Given the description of an element on the screen output the (x, y) to click on. 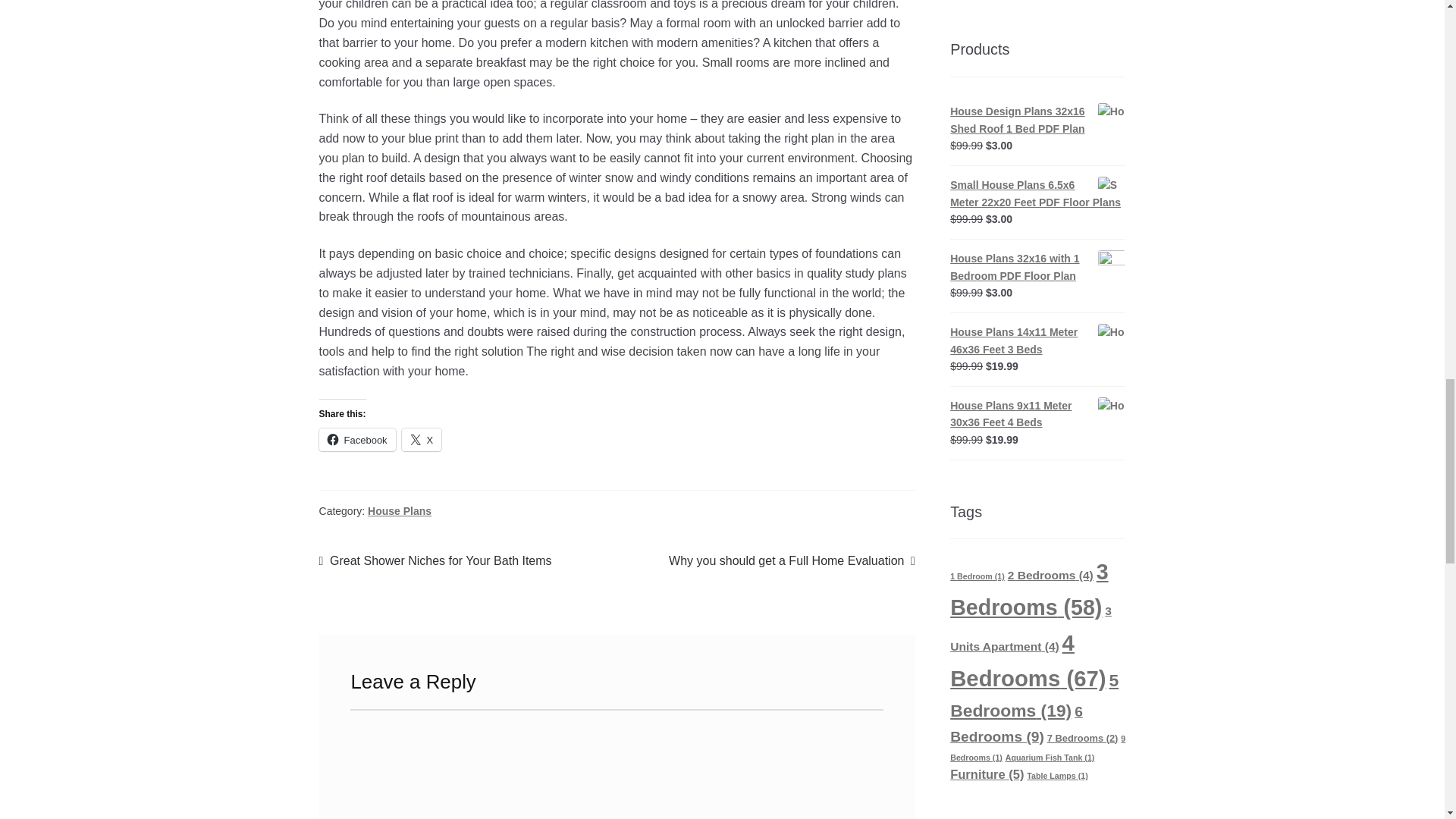
Click to share on X (421, 439)
Comment Form (616, 764)
Click to share on Facebook (357, 439)
